Given the description of an element on the screen output the (x, y) to click on. 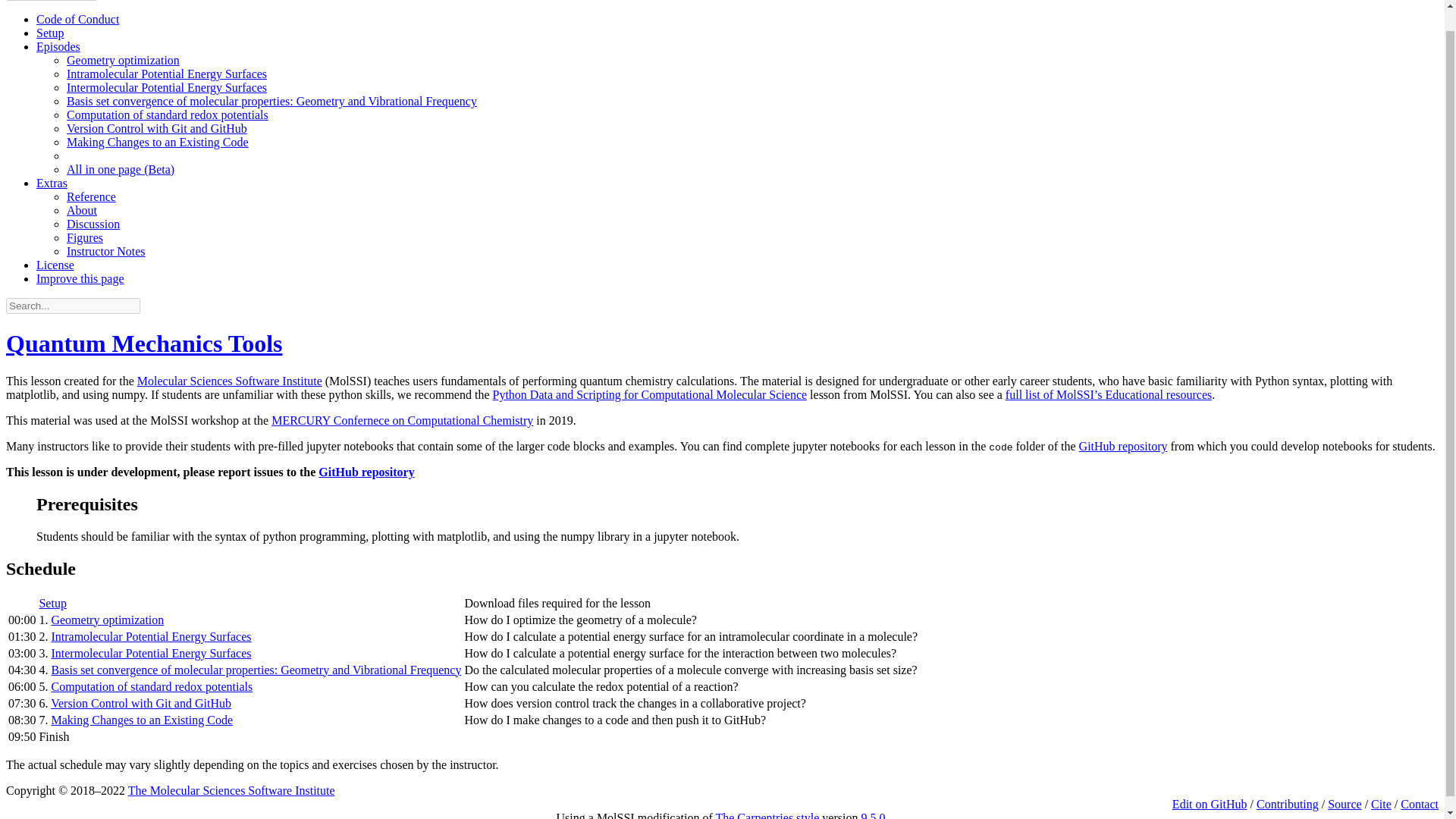
Instructor Notes (105, 250)
Discussion (92, 223)
Intramolecular Potential Energy Surfaces (150, 635)
Intramolecular Potential Energy Surfaces (166, 73)
Reference (91, 196)
Contributing (1287, 803)
Edit on GitHub (1209, 803)
Making Changes to an Existing Code (157, 141)
Extras (51, 182)
